Given the description of an element on the screen output the (x, y) to click on. 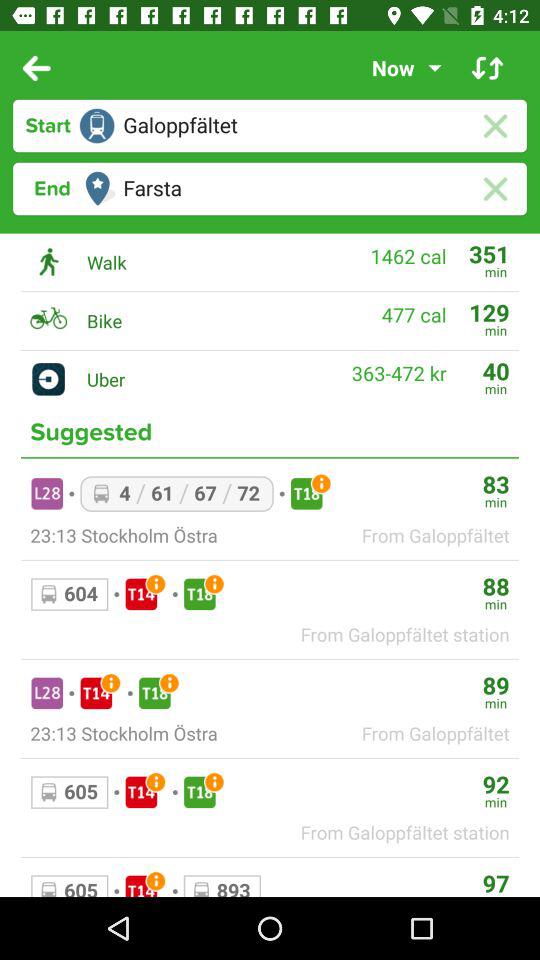
clear entry (494, 188)
